Given the description of an element on the screen output the (x, y) to click on. 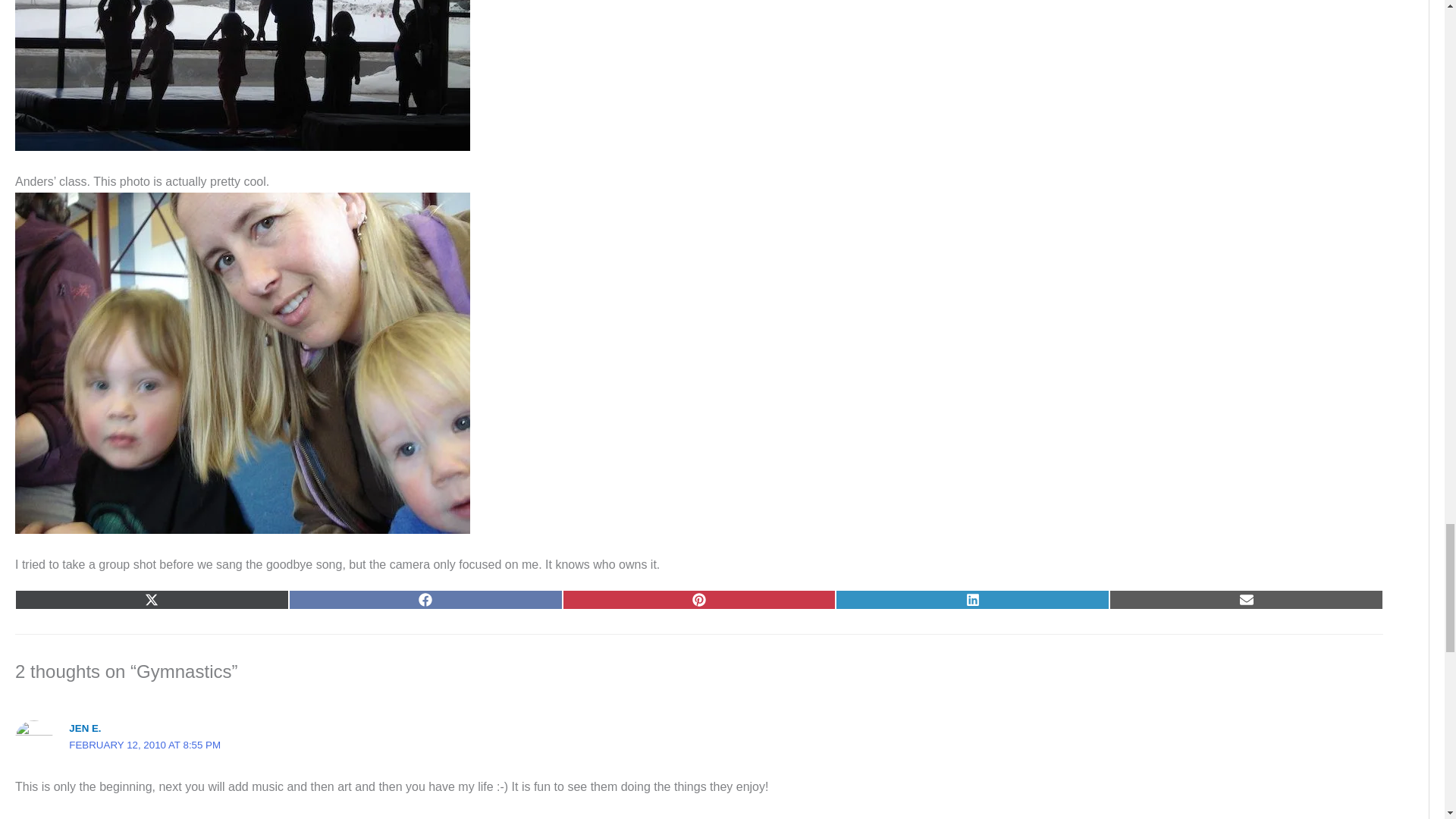
Share on LinkedIn (972, 599)
Share on Facebook (425, 599)
Share on Email (1246, 599)
Share on Pinterest (698, 599)
FEBRUARY 12, 2010 AT 8:55 PM (144, 745)
